Given the description of an element on the screen output the (x, y) to click on. 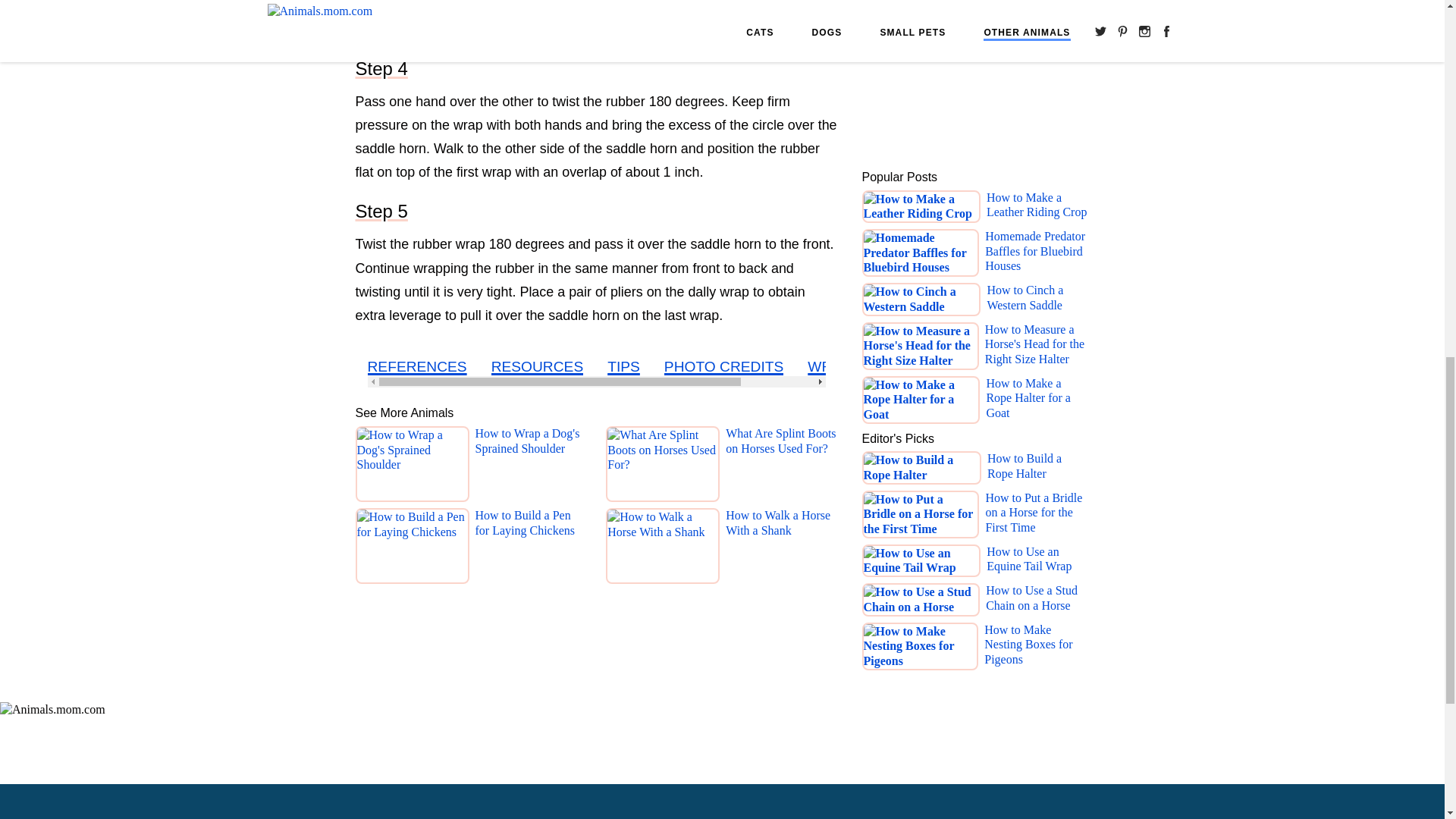
How to Build a Pen for Laying Chickens (530, 548)
What Are Splint Boots on Horses Used For? (781, 466)
How to Wrap a Dog's Sprained Shoulder (530, 466)
How to Walk a Horse With a Shank (781, 548)
